Given the description of an element on the screen output the (x, y) to click on. 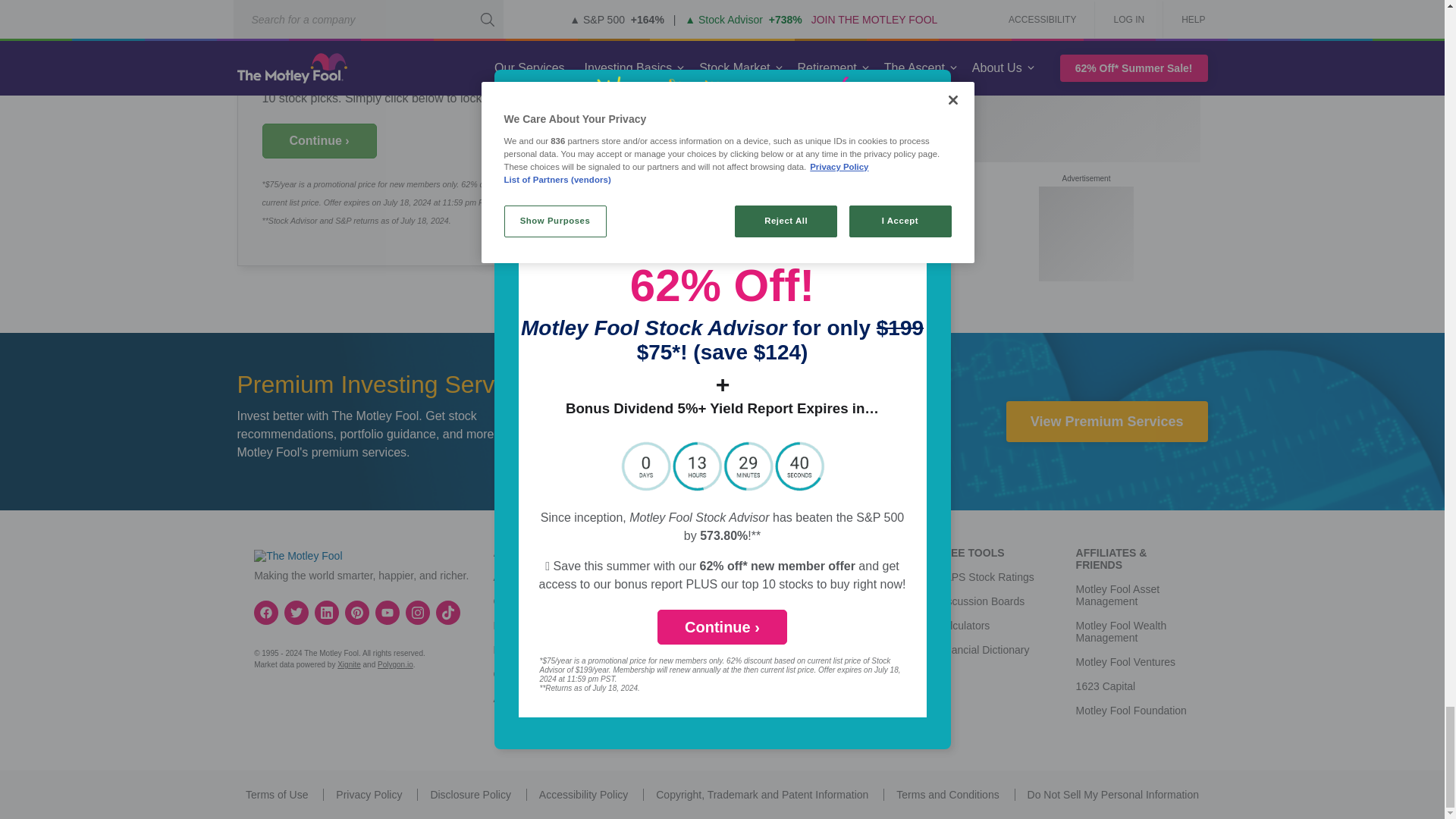
Privacy Policy (368, 794)
Copyright, Trademark and Patent Information (761, 794)
Accessibility Policy (582, 794)
Terms and Conditions (947, 794)
Do Not Sell My Personal Information. (1112, 794)
Disclosure Policy (470, 794)
Terms of Use (276, 794)
